Given the description of an element on the screen output the (x, y) to click on. 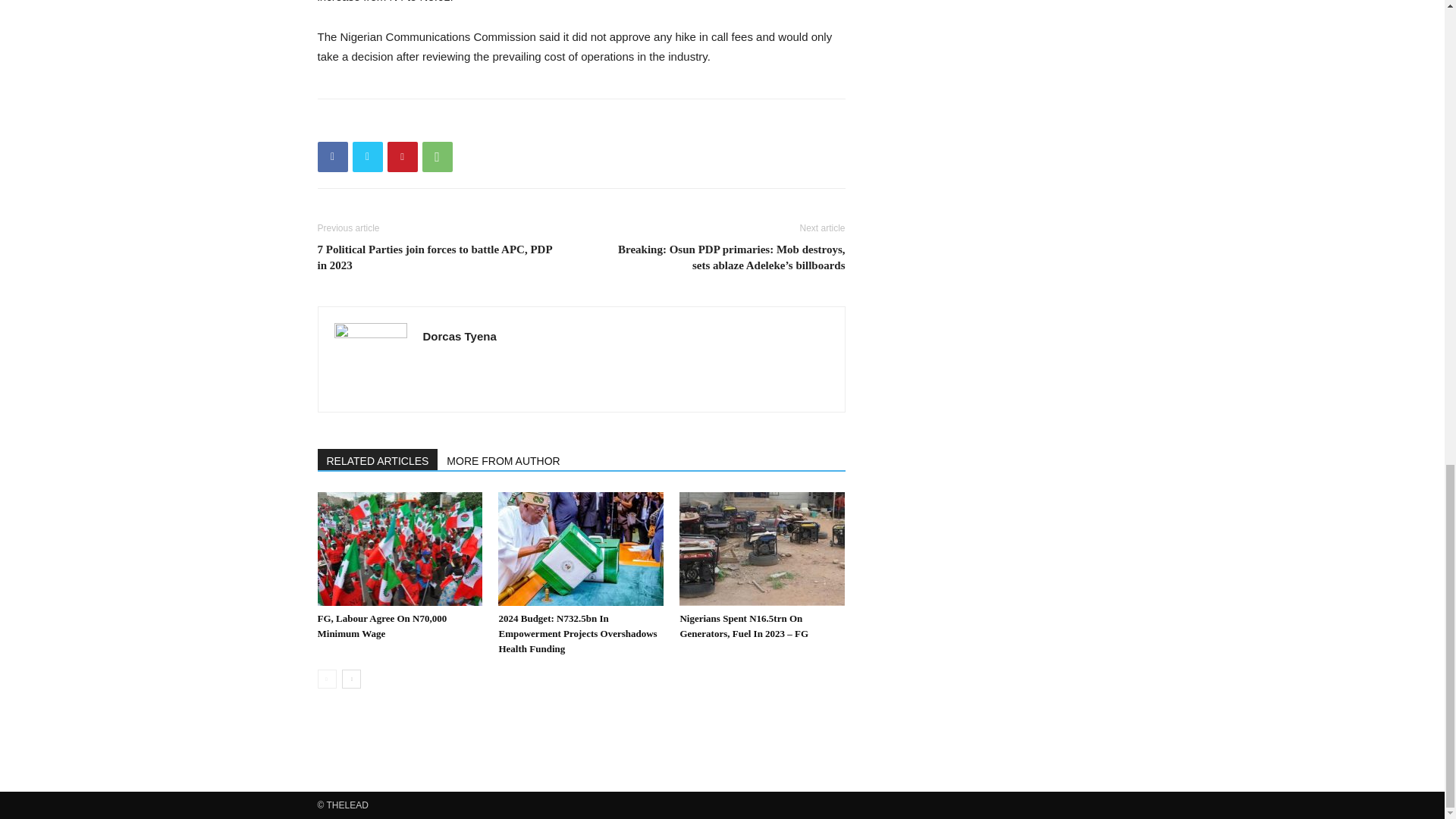
Twitter (366, 156)
FG, Labour agree on N70,000 minimum wage (381, 625)
bottomFacebookLike (430, 123)
Pinterest (401, 156)
WhatsApp (436, 156)
Facebook (332, 156)
FG, Labour agree on N70,000 minimum wage (399, 549)
